Given the description of an element on the screen output the (x, y) to click on. 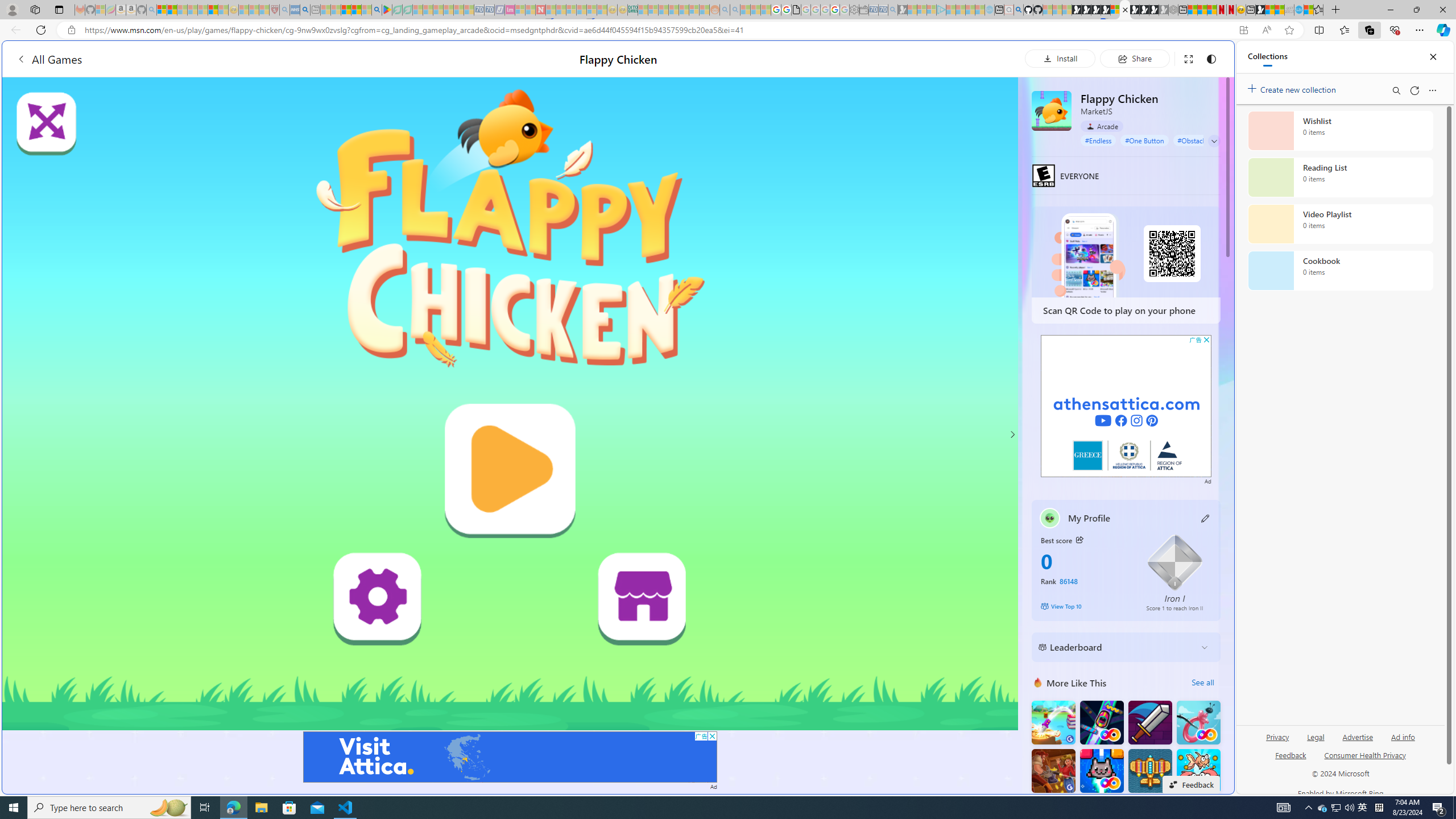
Arcade (1101, 126)
Earth has six continents not seven, radical new study claims (1279, 9)
All Games (216, 58)
